Given the description of an element on the screen output the (x, y) to click on. 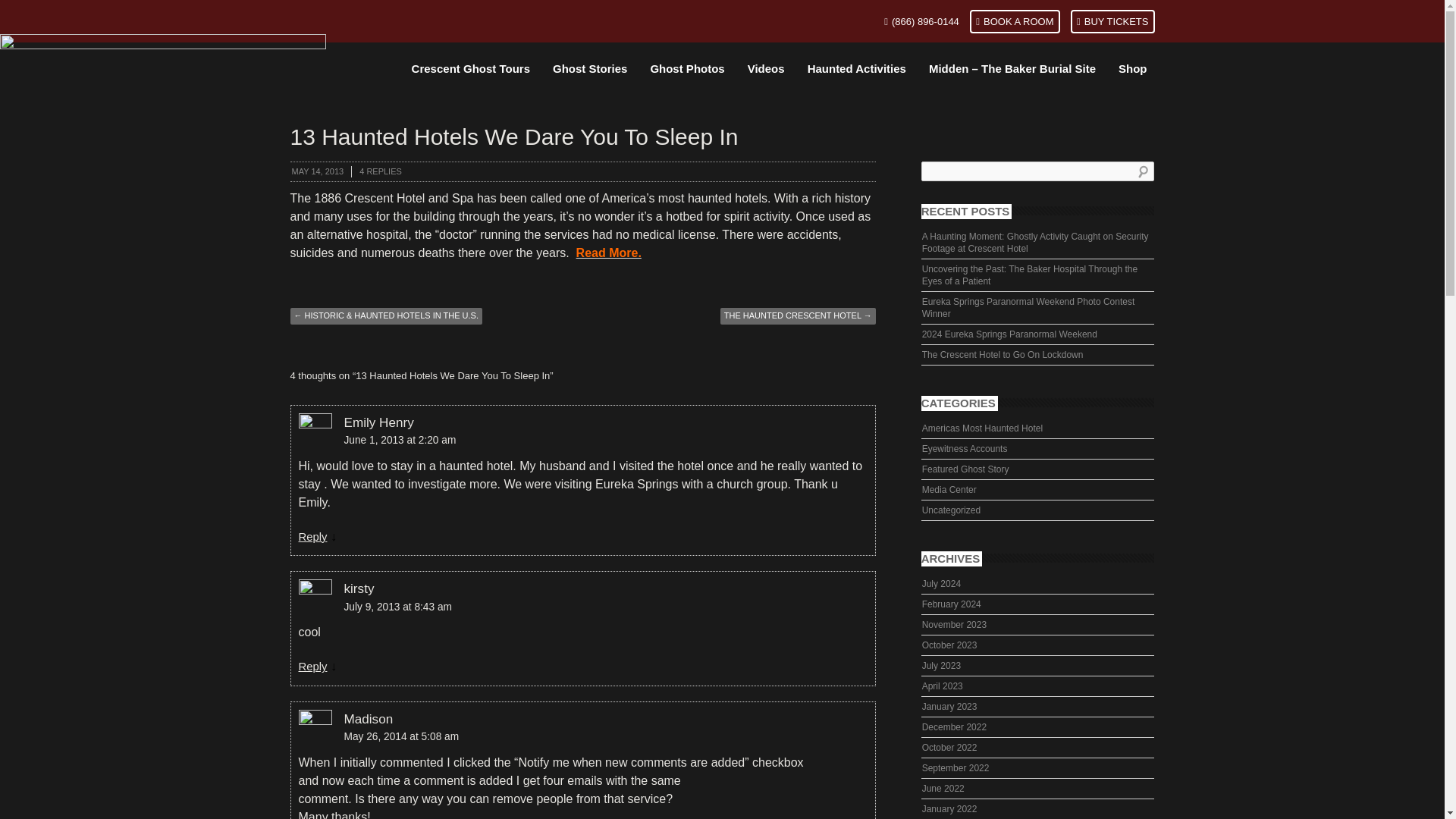
Madison (368, 718)
MAY 14, 2013 (316, 171)
Ghost Photos (687, 69)
kirsty (358, 588)
Videos (766, 69)
5:01 pm (316, 171)
2024 Eureka Springs Paranormal Weekend (1037, 333)
May 26, 2014 at 5:08 am (582, 737)
Shop (1132, 69)
